Given the description of an element on the screen output the (x, y) to click on. 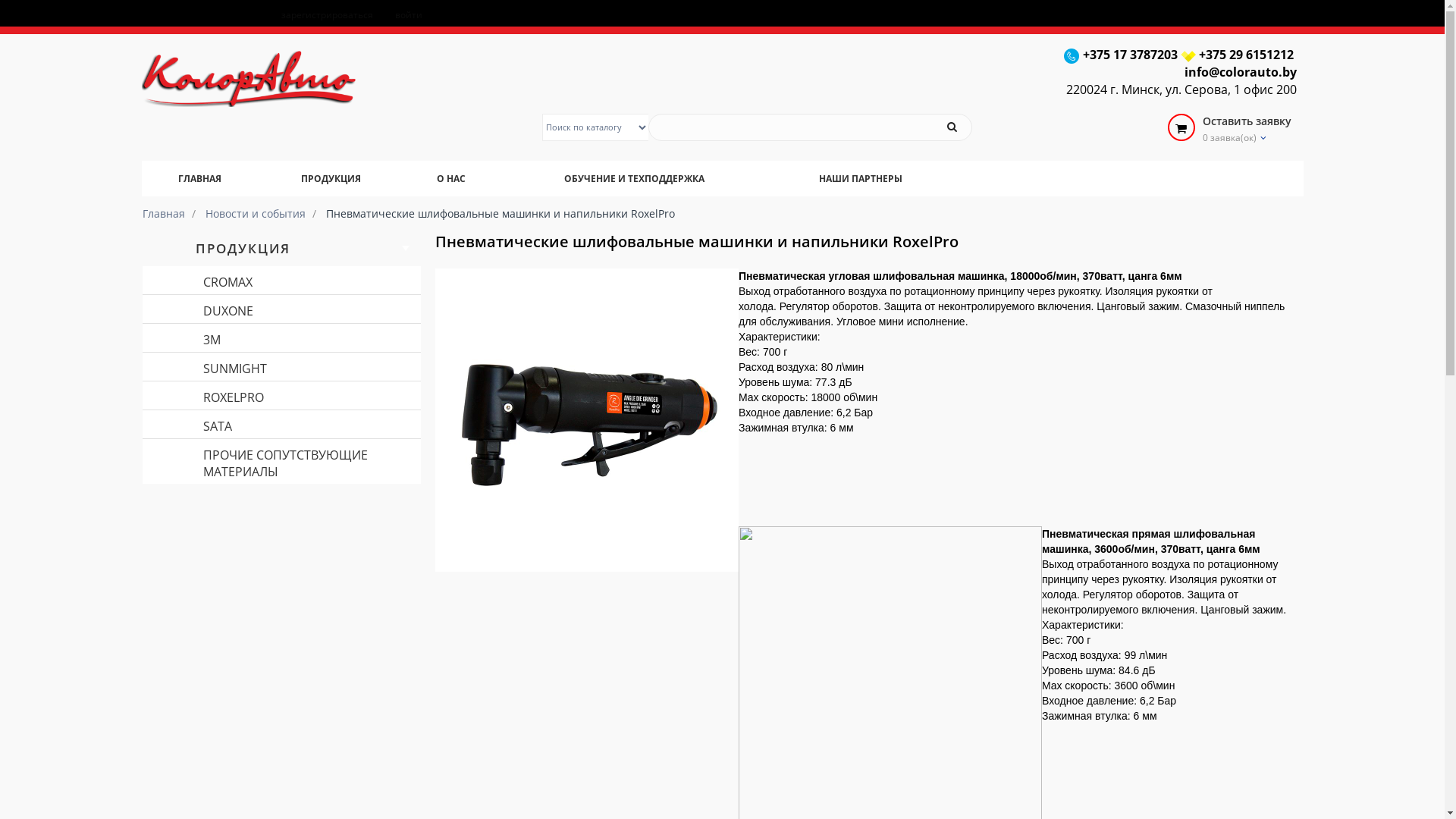
DUXONE Element type: text (281, 308)
ROXELPRO Element type: text (281, 395)
SATA Element type: text (281, 424)
3M Element type: text (281, 337)
SUNMIGHT Element type: text (281, 366)
info@colorauto.by Element type: text (1240, 72)
CROMAX Element type: text (281, 280)
